Given the description of an element on the screen output the (x, y) to click on. 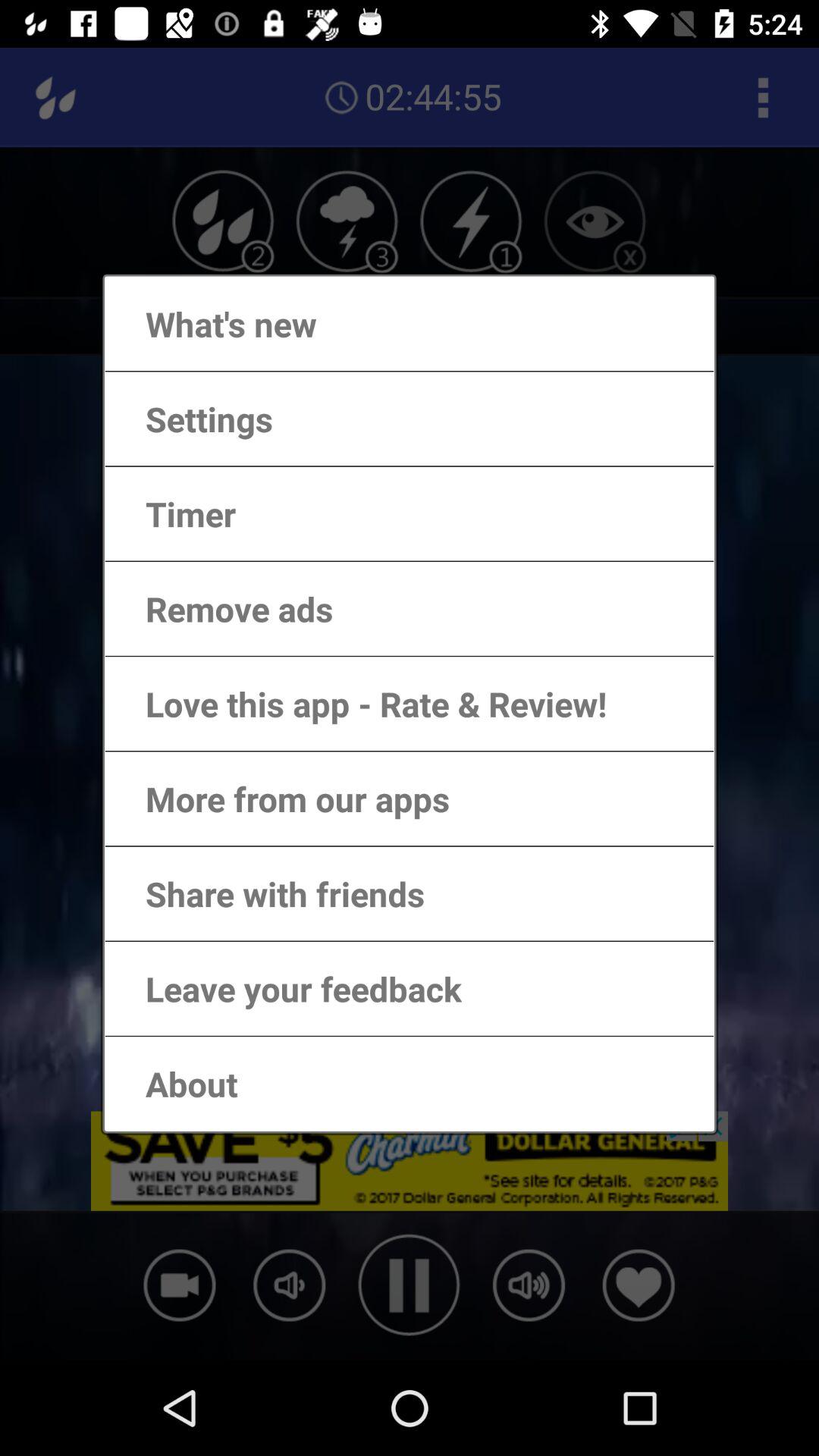
launch the settings item (194, 418)
